Given the description of an element on the screen output the (x, y) to click on. 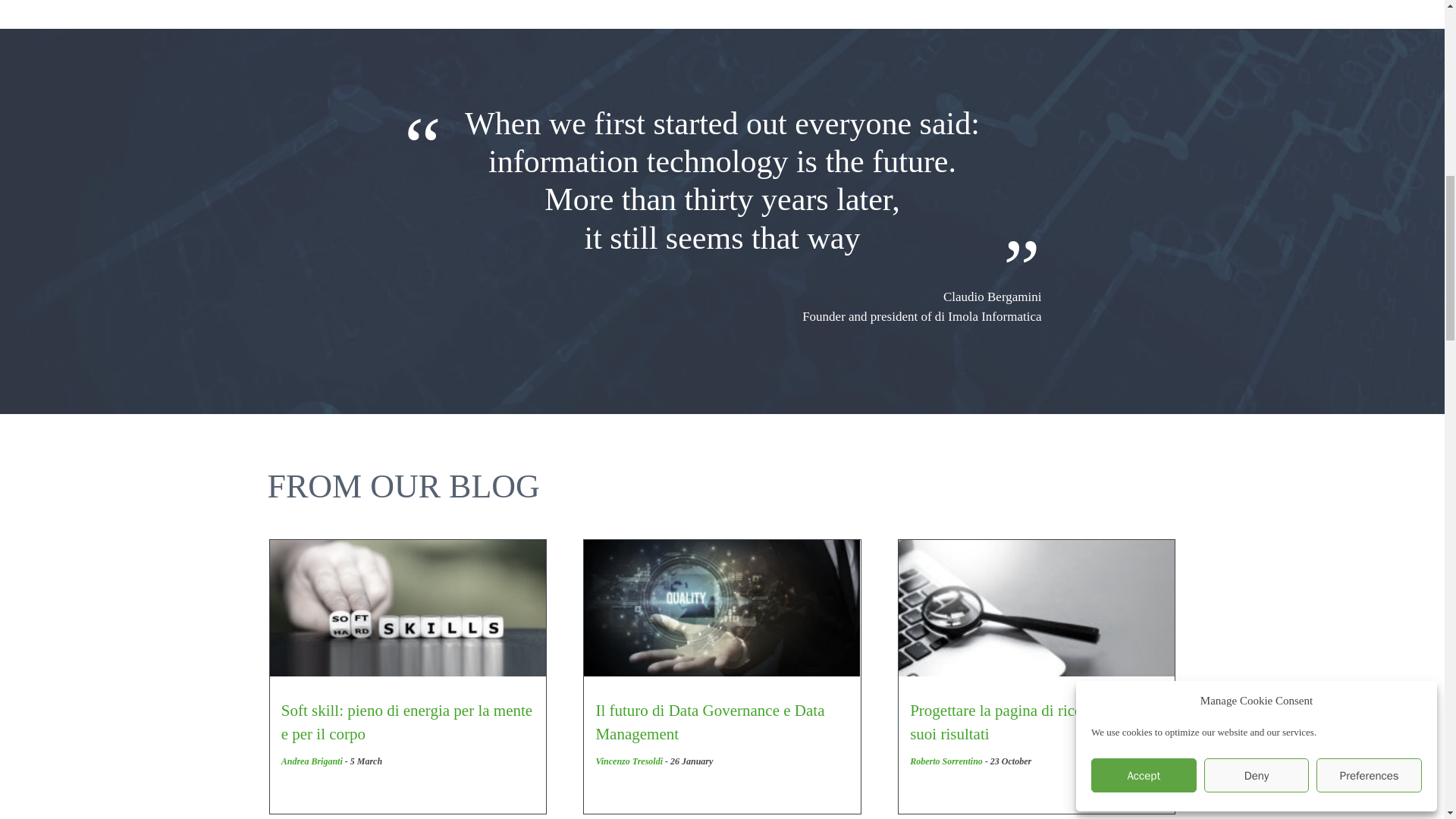
Il futuro di Data Governance e Data Management (721, 607)
Soft skill: pieno di energia per la mente e per il corpo (407, 607)
blog.imolainformatica.it (311, 760)
